Given the description of an element on the screen output the (x, y) to click on. 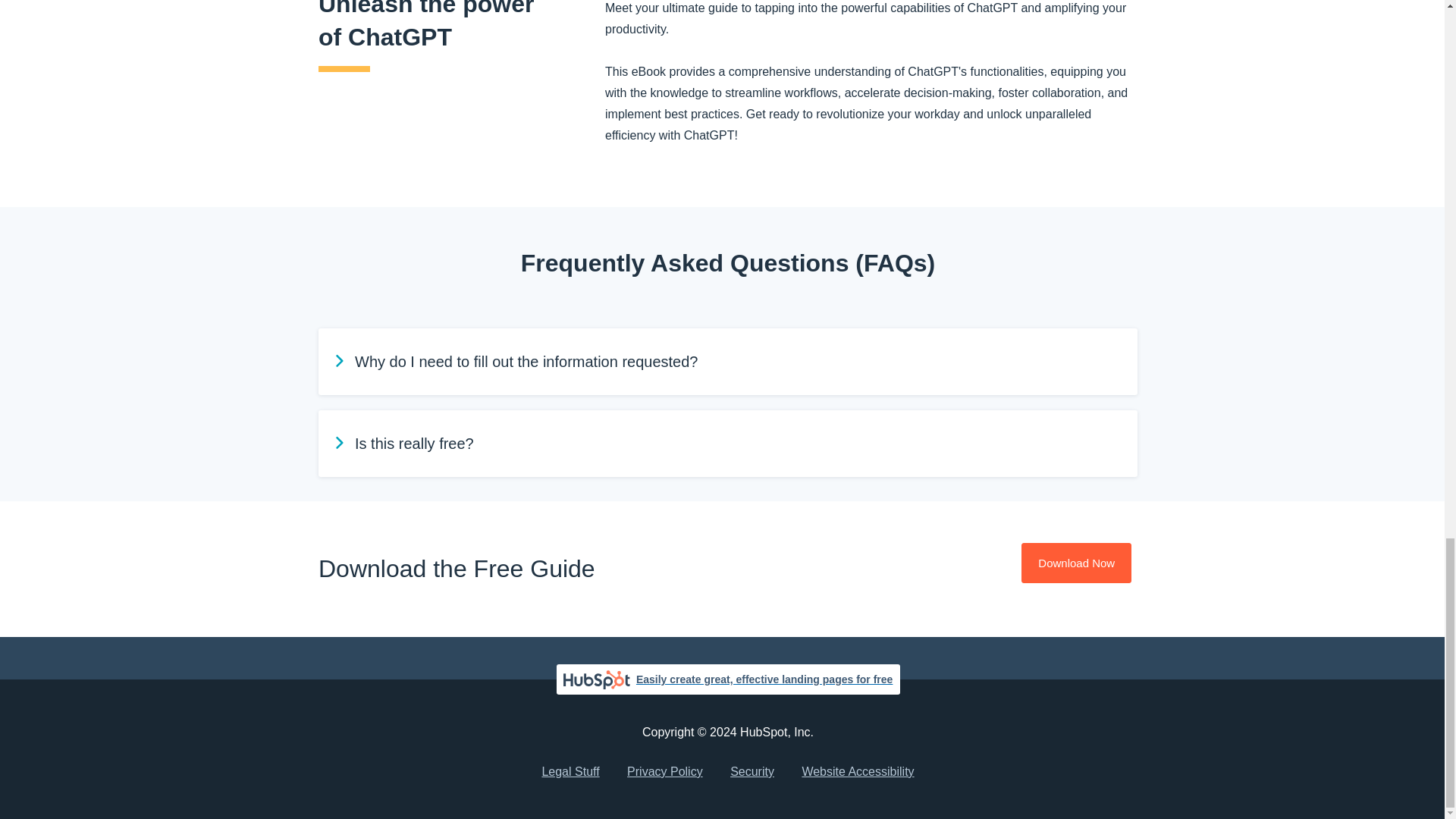
Security (751, 771)
Privacy Policy (664, 771)
Why do I need to fill out the information requested? (727, 361)
Legal Stuff (570, 771)
Website Accessibility (857, 771)
Download Now (1076, 562)
Is this really free? (727, 443)
